Given the description of an element on the screen output the (x, y) to click on. 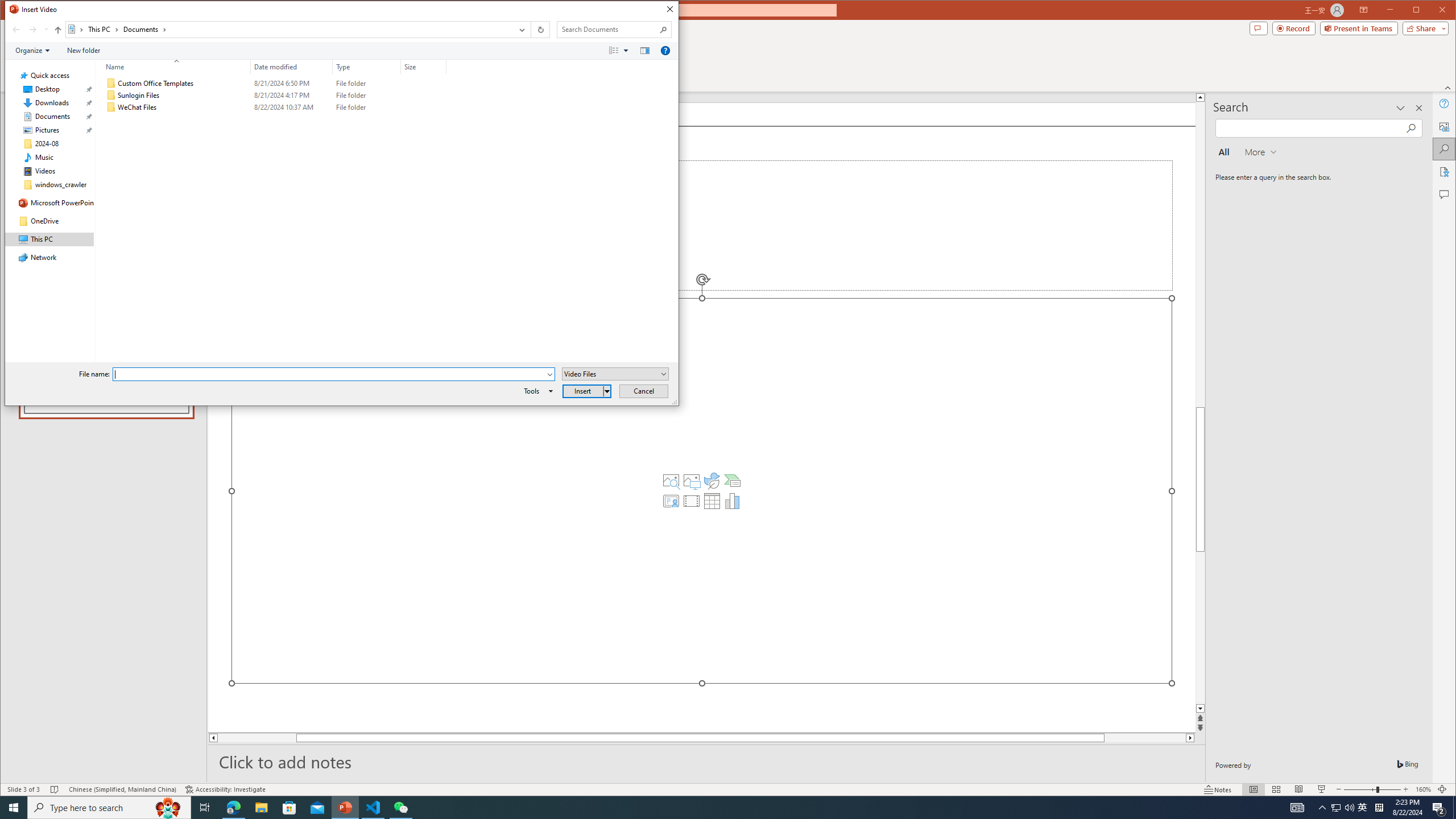
Sunlogin Files (273, 95)
Class: UIImage (111, 107)
Zoom 160% (1422, 789)
Insert Cameo (670, 501)
Filter dropdown (440, 66)
Recent locations (45, 29)
Address band toolbar (530, 29)
Name (183, 107)
Tools (536, 390)
